Given the description of an element on the screen output the (x, y) to click on. 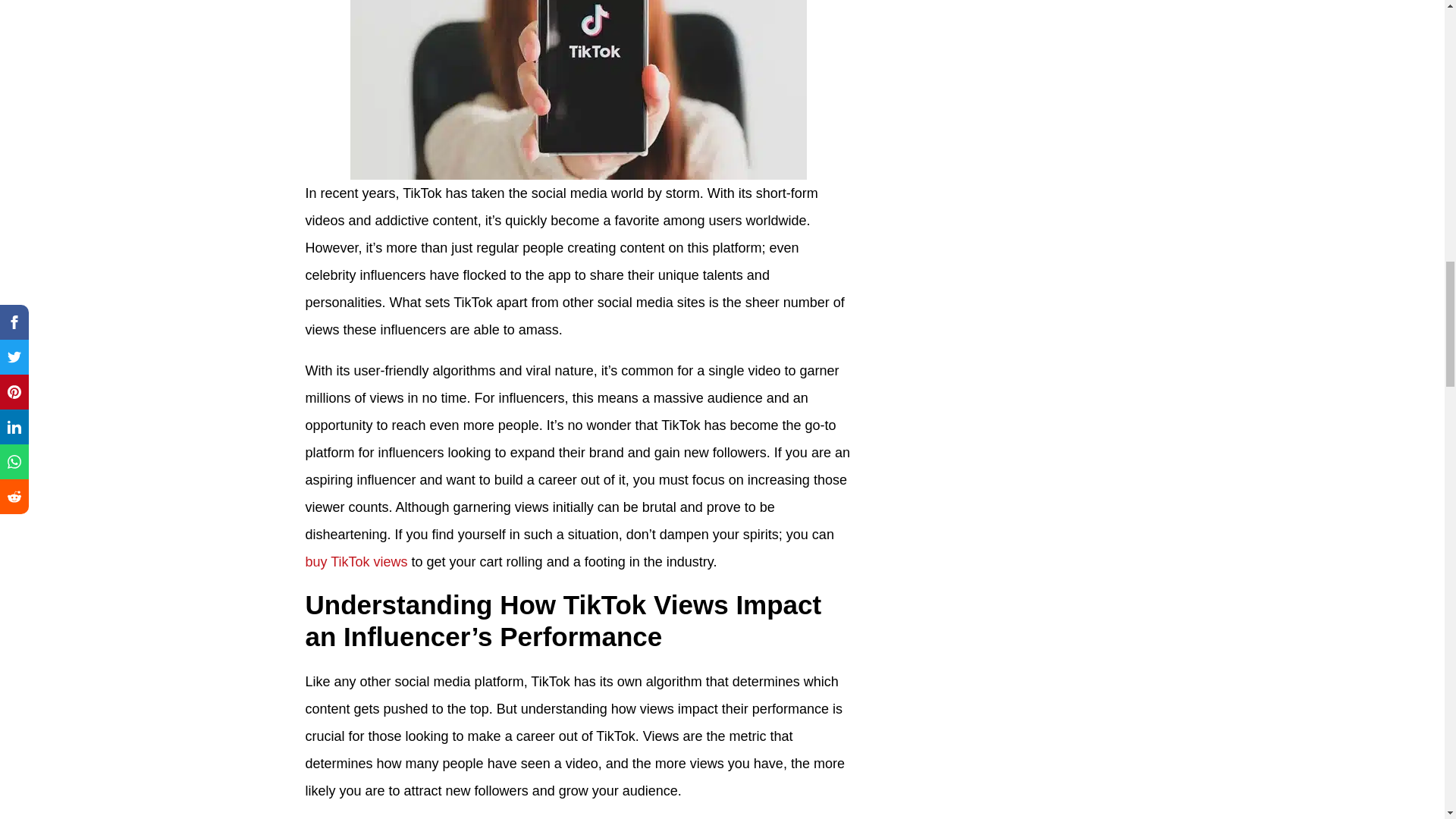
buy TikTok views (355, 561)
